Given the description of an element on the screen output the (x, y) to click on. 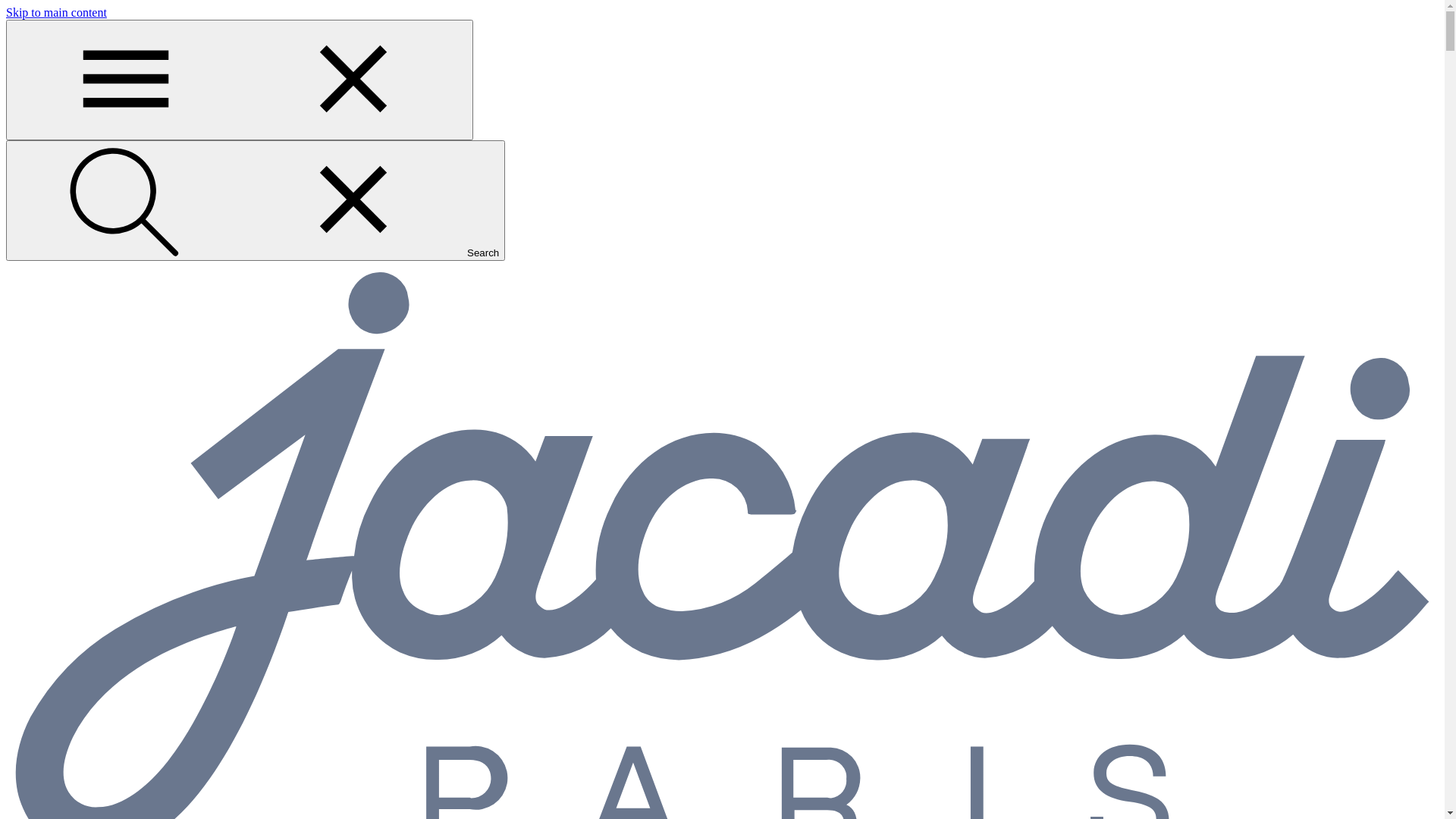
Skip to main content Element type: text (56, 12)
Search Element type: text (255, 200)
